Given the description of an element on the screen output the (x, y) to click on. 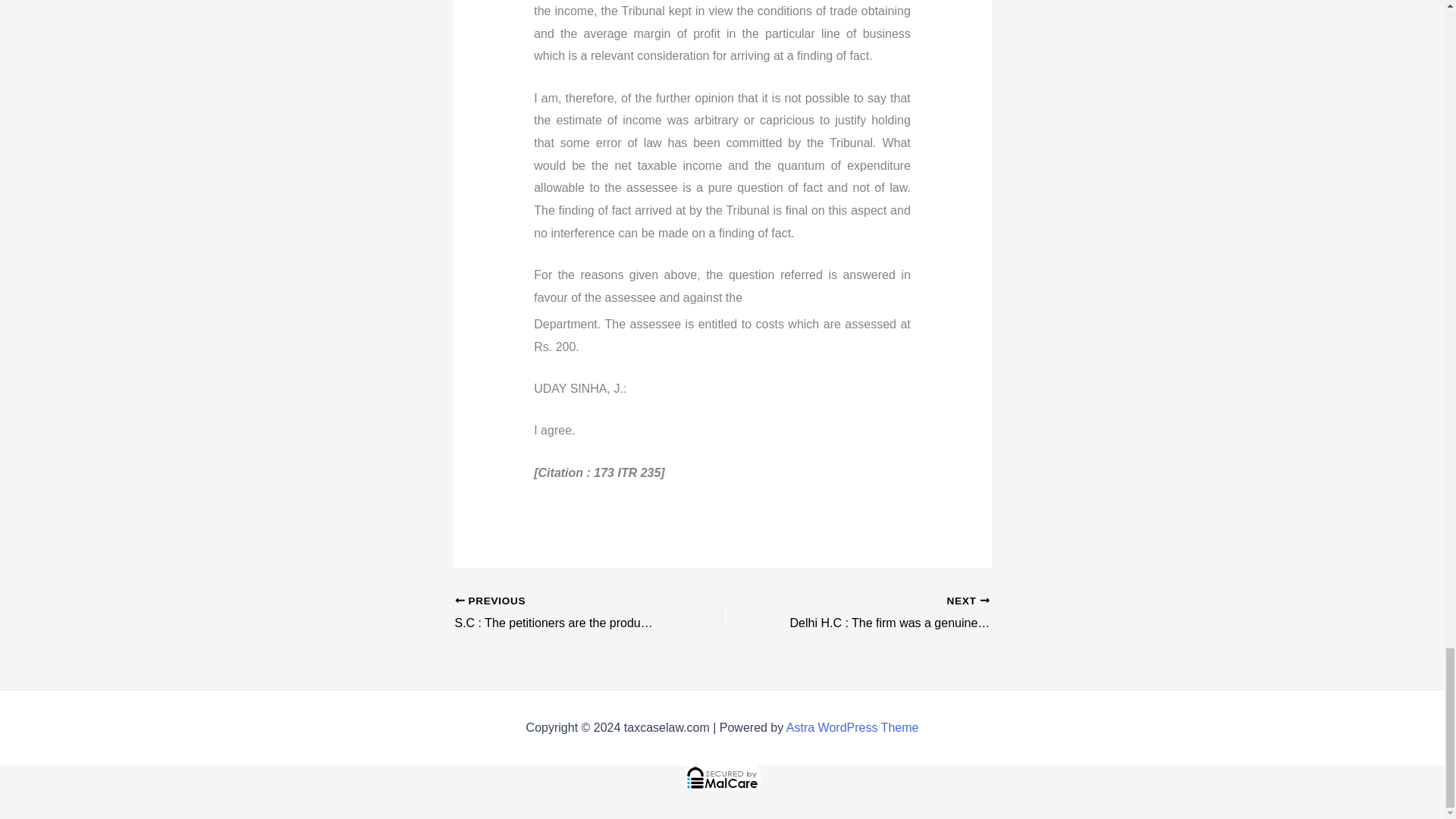
Astra WordPress Theme (852, 727)
